Given the description of an element on the screen output the (x, y) to click on. 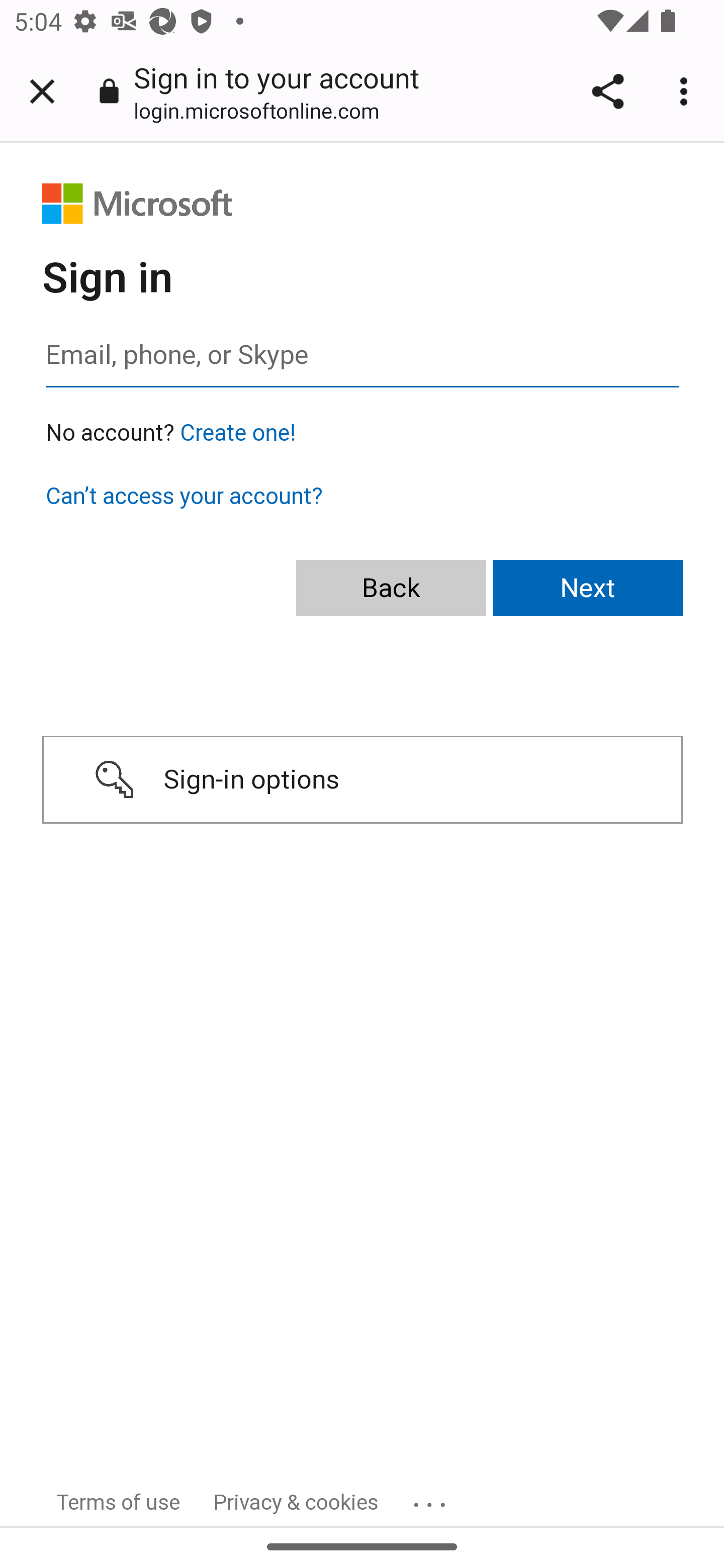
Close tab (42, 91)
Share (607, 91)
More options (687, 91)
Connection is secure (108, 90)
login.microsoftonline.com (263, 109)
Create a Microsoft account Create one! (237, 432)
Can’t access your account? (184, 495)
Back (391, 588)
Next (588, 588)
Sign-in options (361, 779)
Terms of use (118, 1502)
Privacy & cookies (296, 1502)
Click here for troubleshooting information (432, 1497)
